Given the description of an element on the screen output the (x, y) to click on. 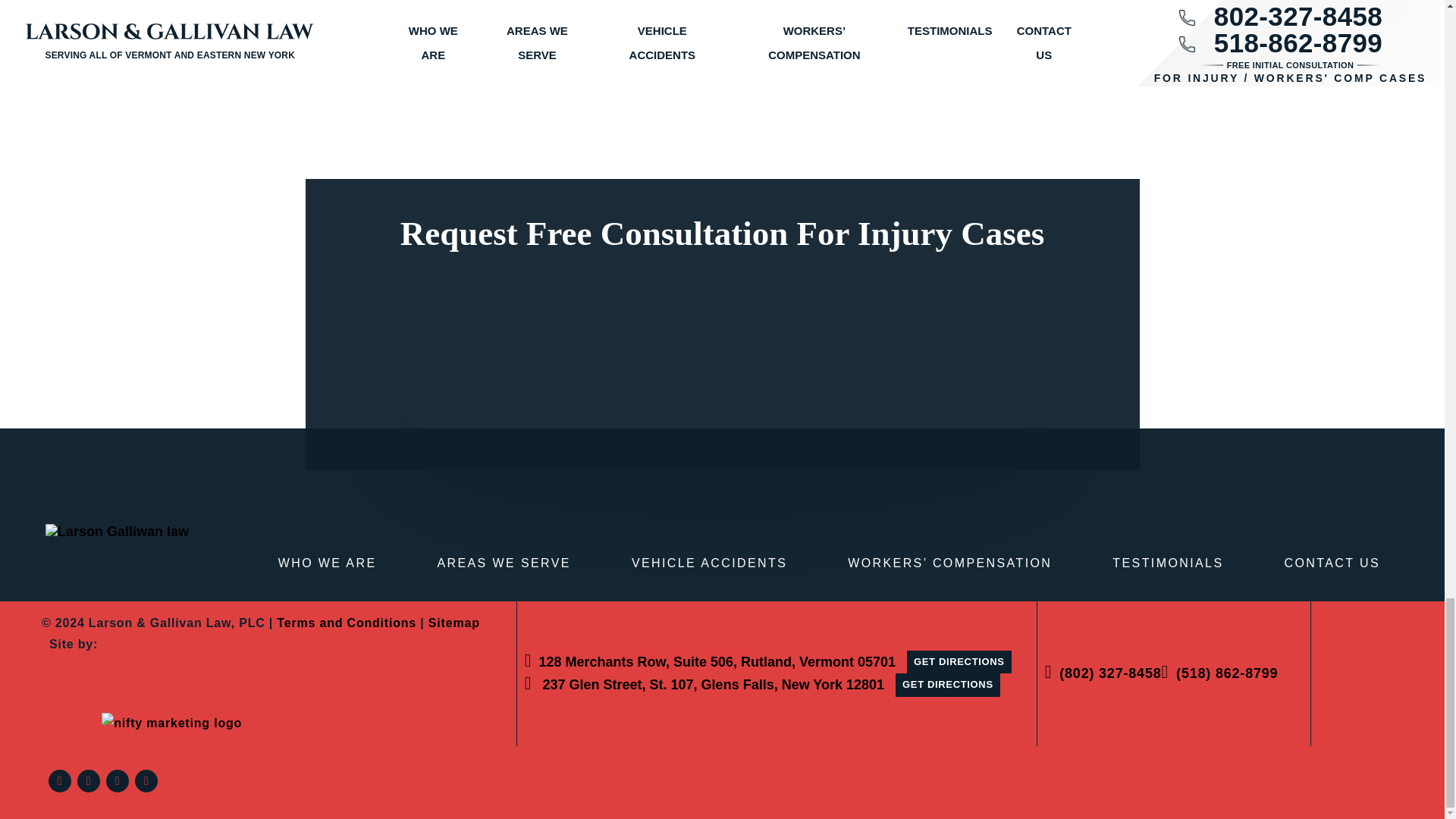
LinkedIn (117, 780)
Facebook (59, 780)
Twitter (88, 780)
Youtube (146, 780)
Contact Form (721, 348)
